Given the description of an element on the screen output the (x, y) to click on. 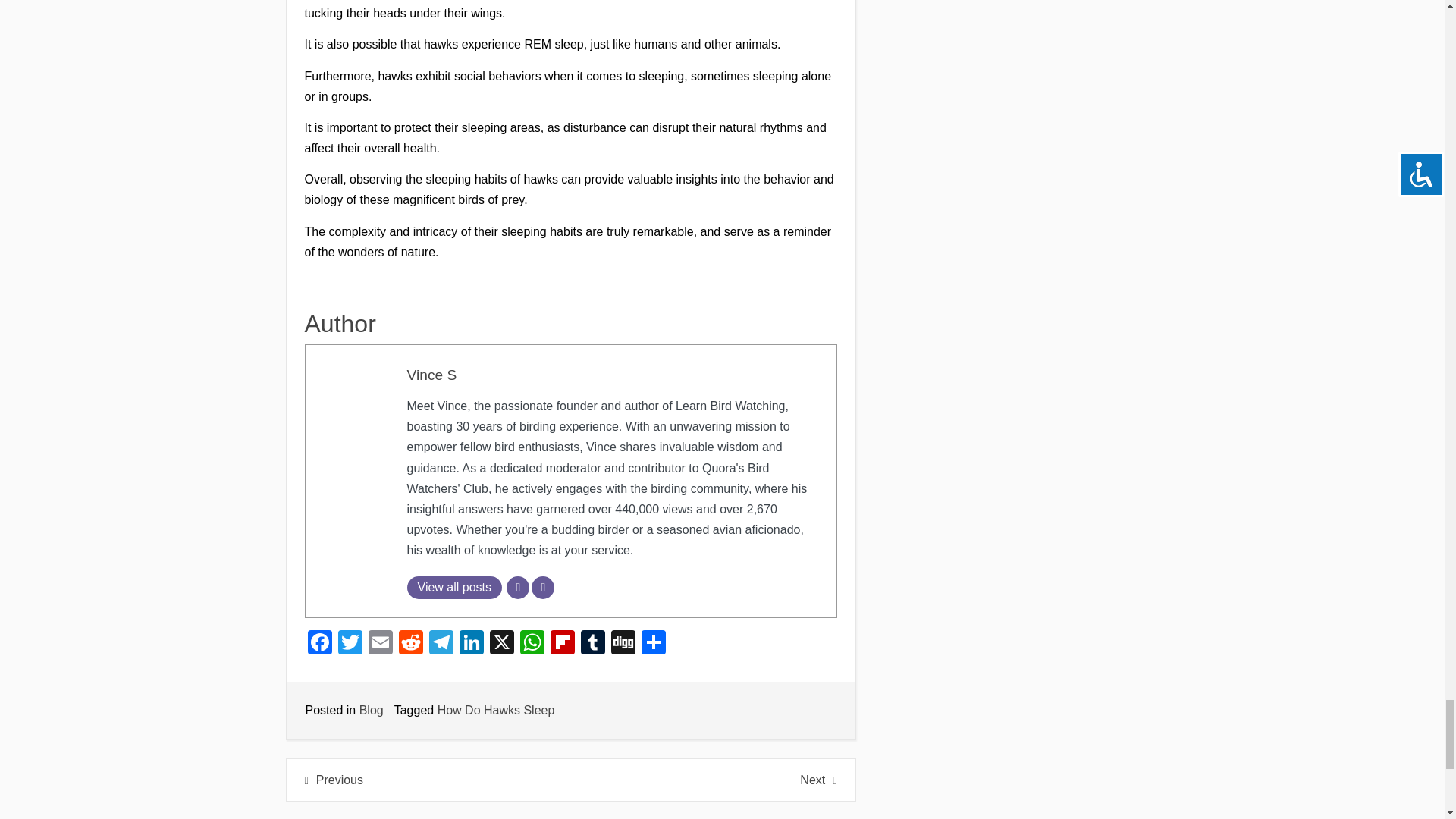
Tumblr (593, 643)
WhatsApp (531, 643)
LinkedIn (471, 643)
Digg (623, 643)
Flipboard (562, 643)
Reddit (411, 643)
Telegram (441, 643)
Twitter (349, 643)
Email (380, 643)
Vince S (431, 374)
